Given the description of an element on the screen output the (x, y) to click on. 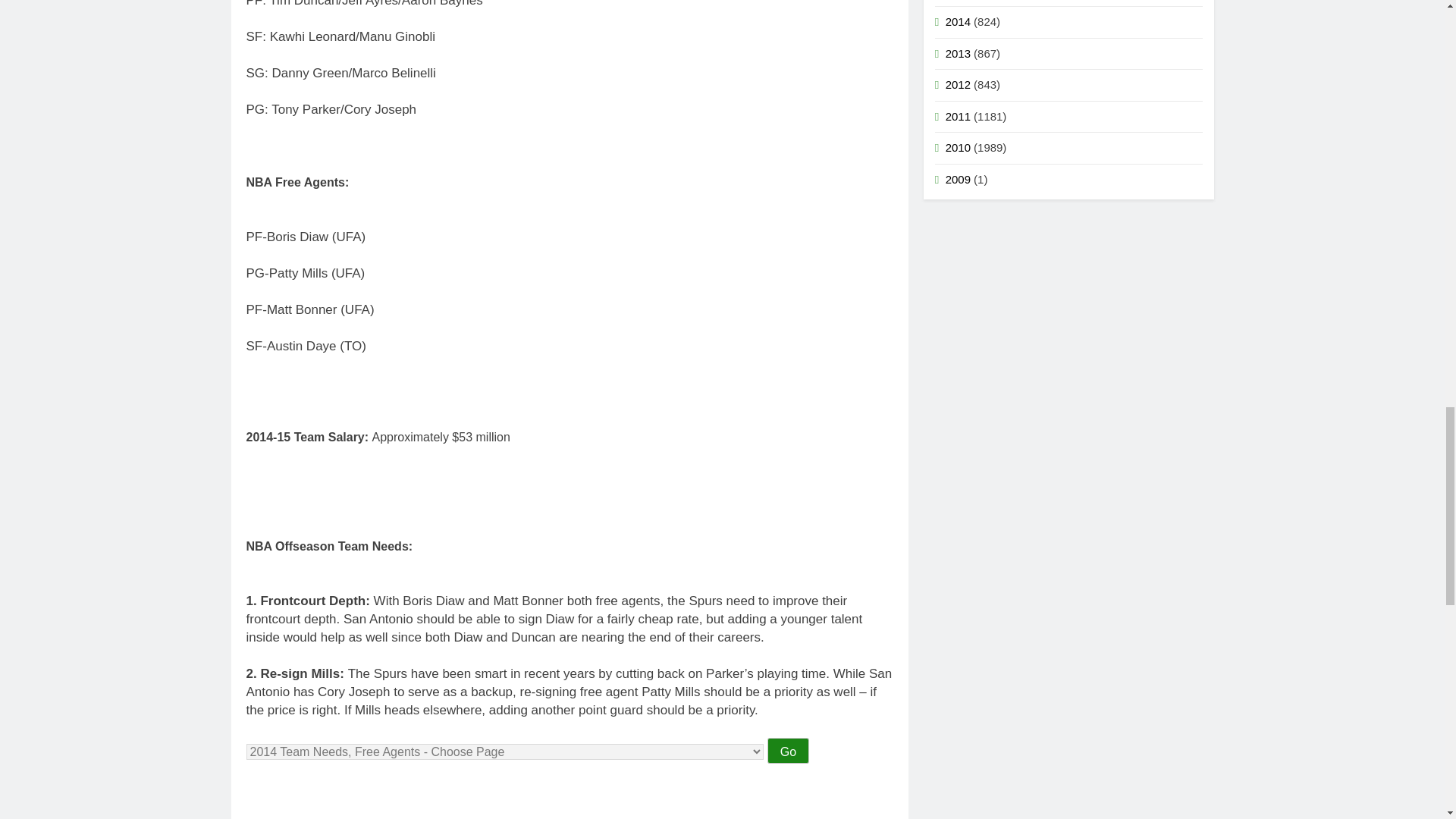
Go (788, 750)
